Given the description of an element on the screen output the (x, y) to click on. 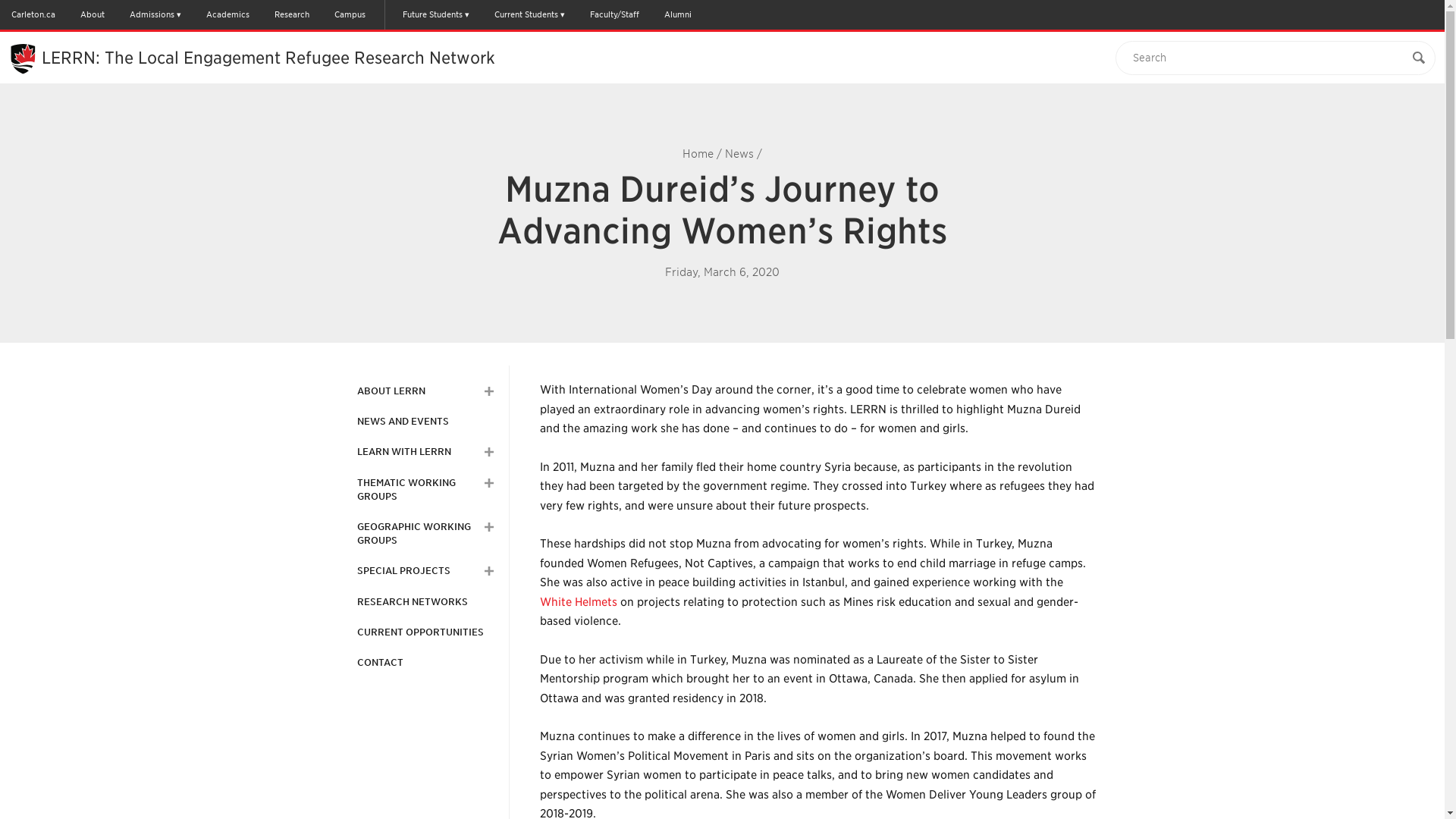
Carleton.ca (33, 14)
Admissions (155, 14)
Home (697, 153)
Visit Site Homepage (268, 57)
GEOGRAPHIC WORKING GROUPS (416, 533)
LEARN WITH LERRN (402, 451)
NEWS AND EVENTS (402, 421)
THEMATIC WORKING GROUPS (416, 489)
Open submenu for Learn With LERRN (488, 451)
Open submenu for Thematic Working Groups (488, 482)
